Given the description of an element on the screen output the (x, y) to click on. 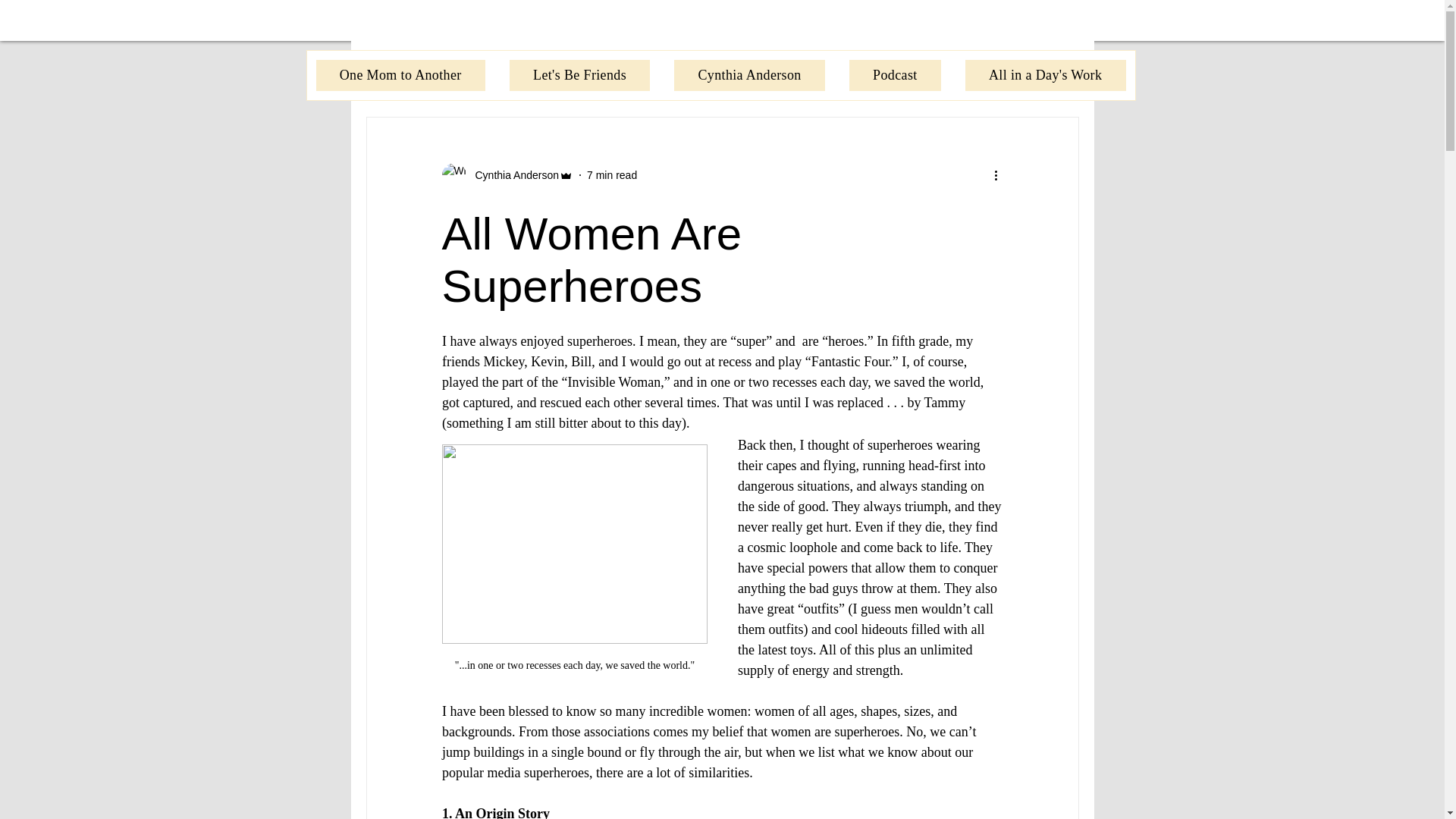
Let's Be Friends (579, 74)
All in a Day's Work (1045, 74)
Cynthia Anderson (512, 174)
Cynthia Anderson (749, 74)
Cynthia Anderson (507, 174)
7 min read (611, 174)
Podcast (895, 74)
One Mom to Another (399, 74)
